Given the description of an element on the screen output the (x, y) to click on. 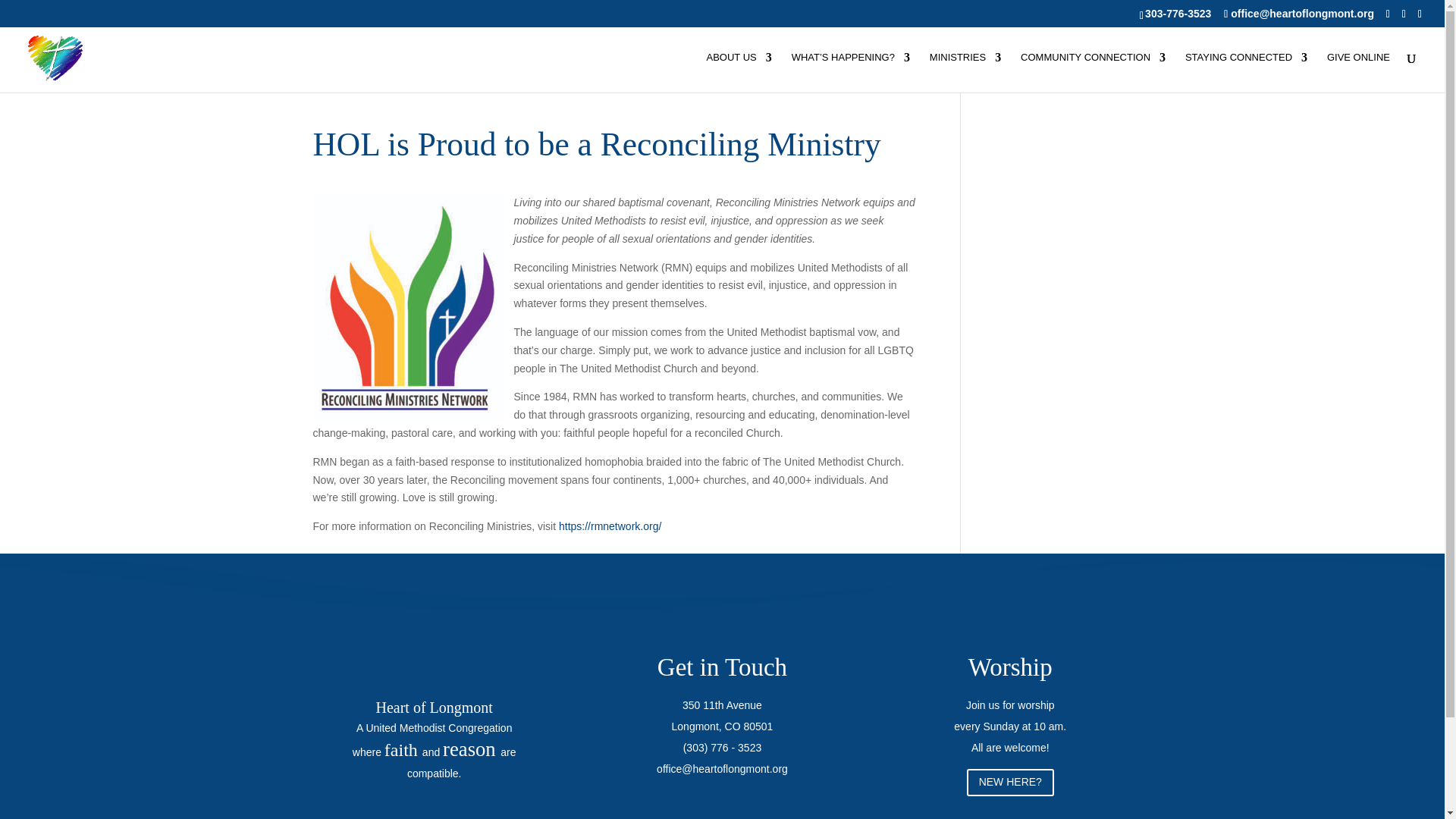
GIVE ONLINE (1358, 72)
ABOUT US (738, 72)
COMMUNITY CONNECTION (1093, 72)
MINISTRIES (965, 72)
STAYING CONNECTED (1246, 72)
